Given the description of an element on the screen output the (x, y) to click on. 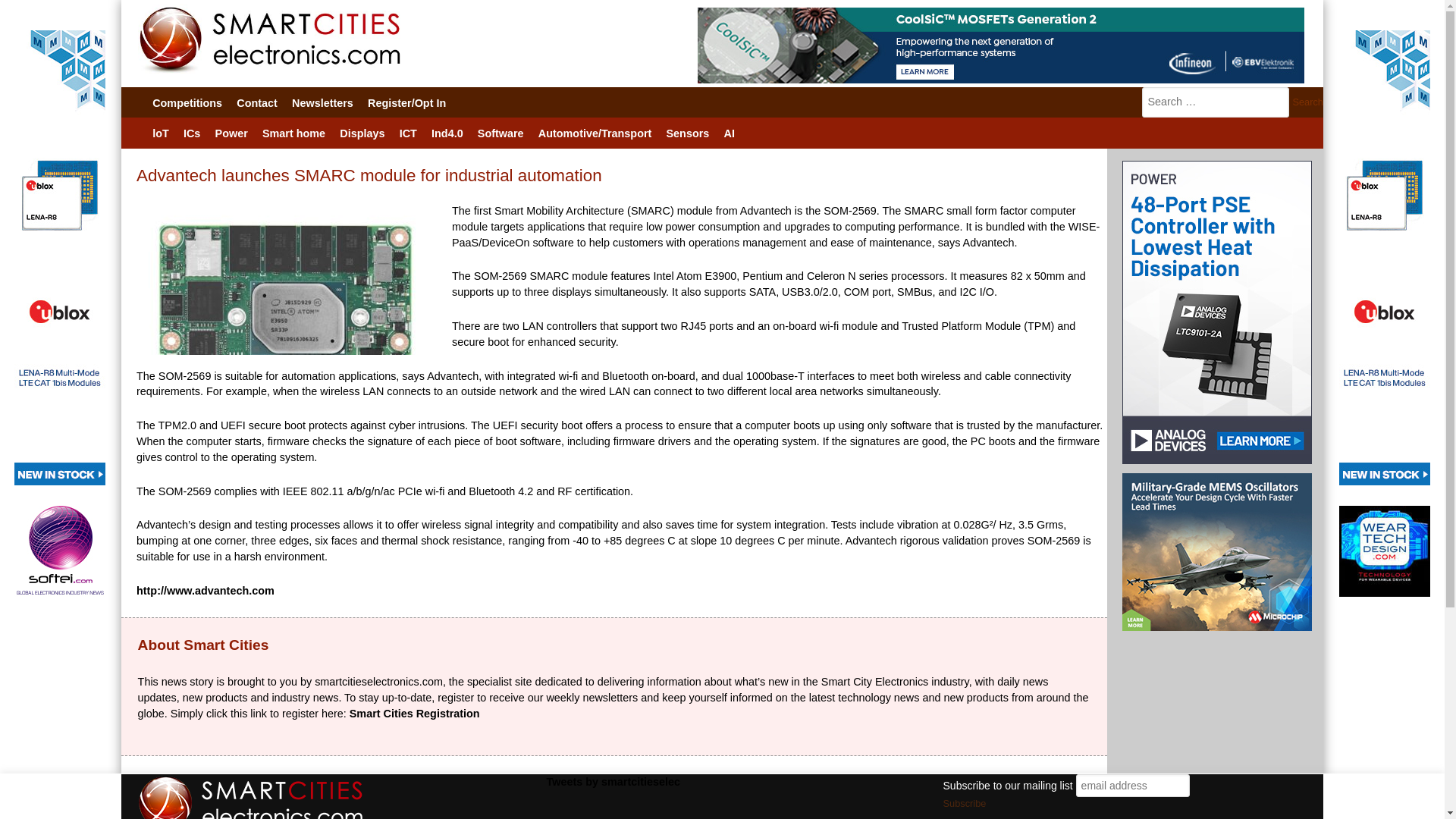
loT (160, 132)
Search (1307, 102)
Search for: (1214, 101)
advertisement (1384, 257)
Sensors (687, 132)
Newsletters (321, 101)
ICT (407, 132)
Accept (995, 797)
Power (231, 132)
Subscribe (965, 803)
Read More (1051, 797)
Displays (362, 132)
Tweets by smartcitieselec (612, 781)
Smart Cities Registration (414, 713)
Ind4.0 (446, 132)
